Given the description of an element on the screen output the (x, y) to click on. 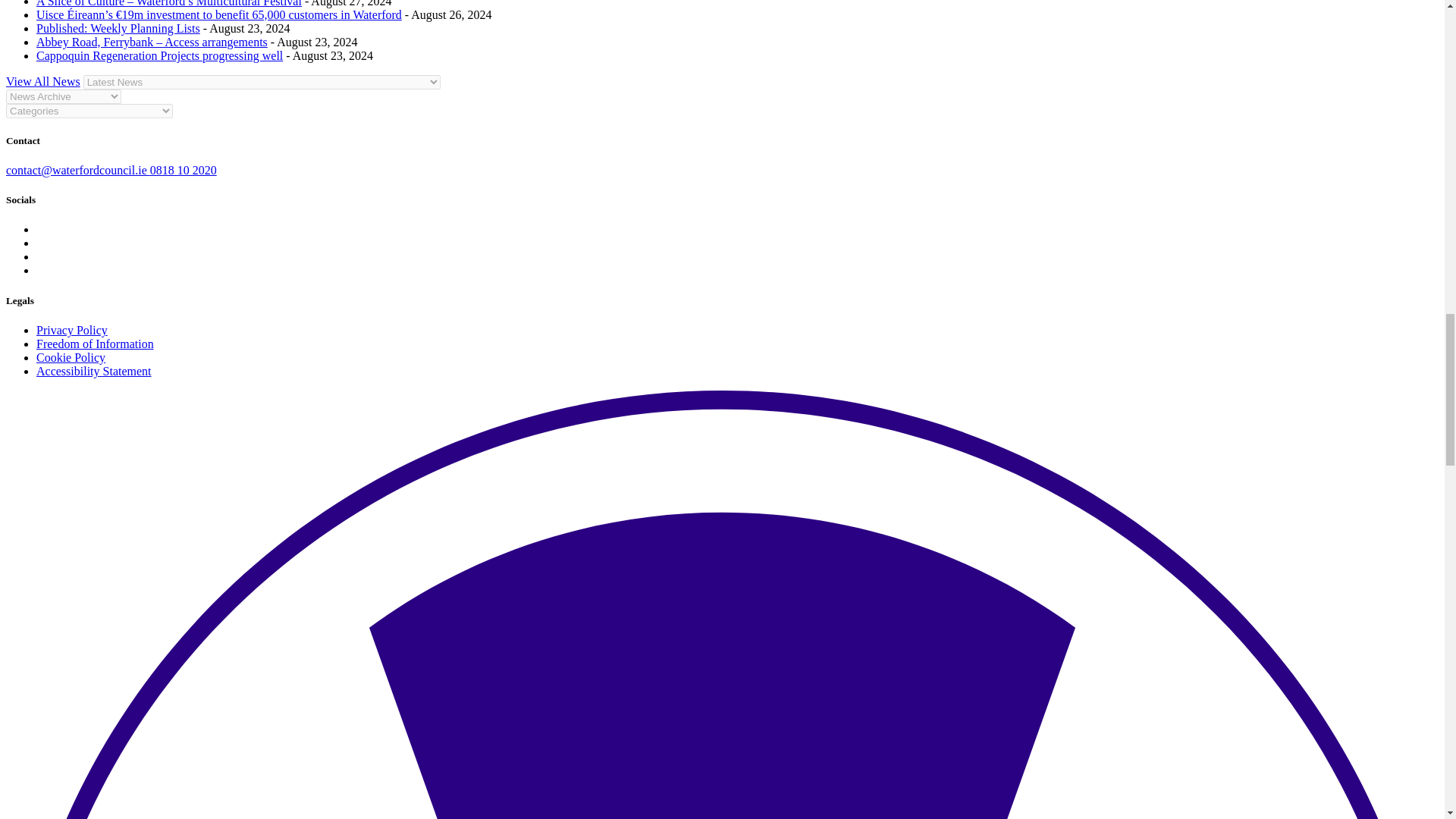
Cappoquin Regeneration Projects progressing well (159, 55)
0818 10 2020 (182, 169)
Published: Weekly Planning Lists (118, 28)
Freedom of Information (95, 343)
Privacy Policy (71, 329)
Cookie Policy (70, 357)
Accessibility Statement (93, 370)
View All News (42, 81)
